Given the description of an element on the screen output the (x, y) to click on. 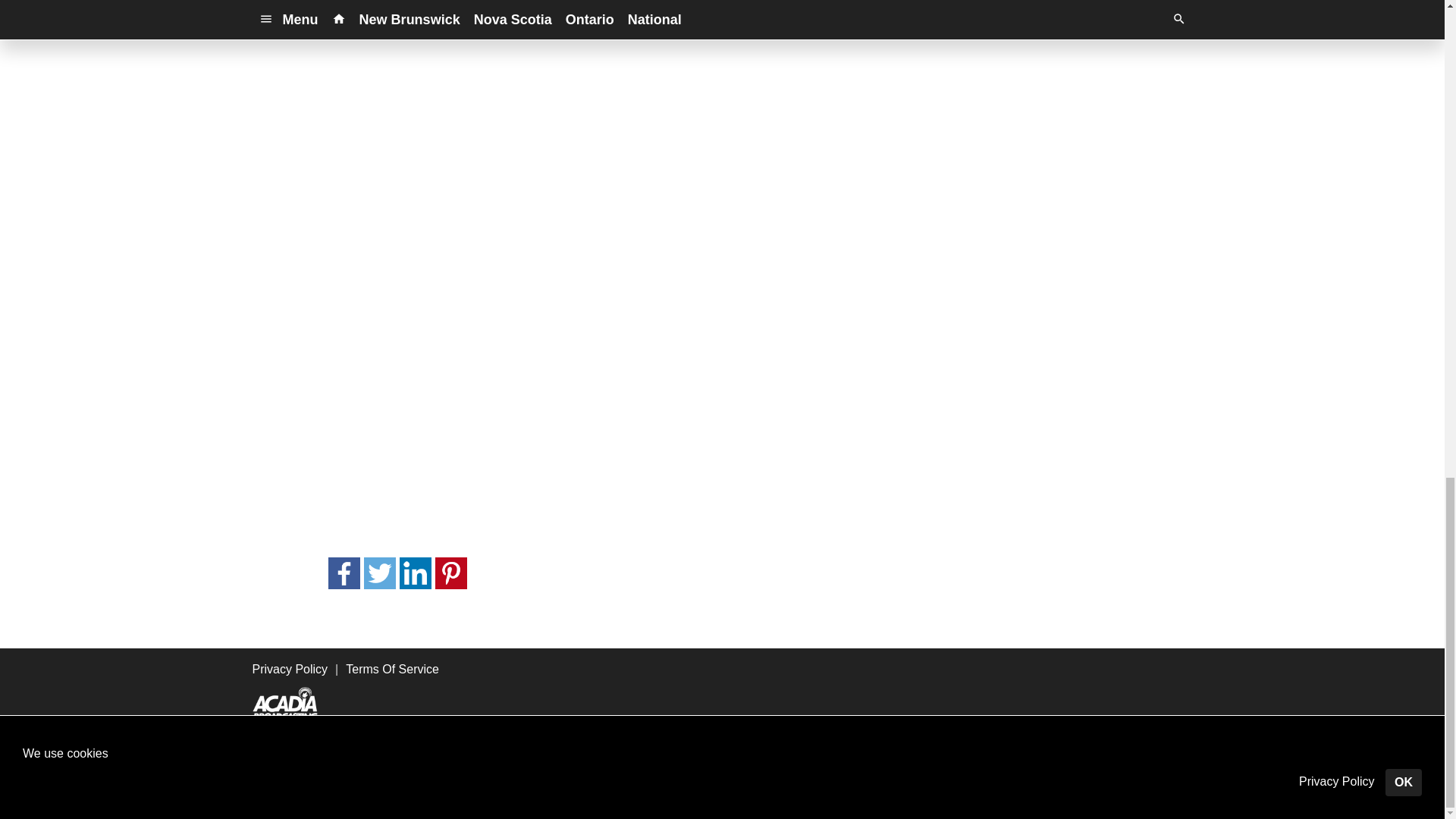
Privacy Policy (577, 772)
Terms Of Service (392, 669)
Powered By SoCast (333, 797)
Terms of Service (688, 772)
Privacy Policy (289, 669)
Powered By SoCast (333, 796)
